Given the description of an element on the screen output the (x, y) to click on. 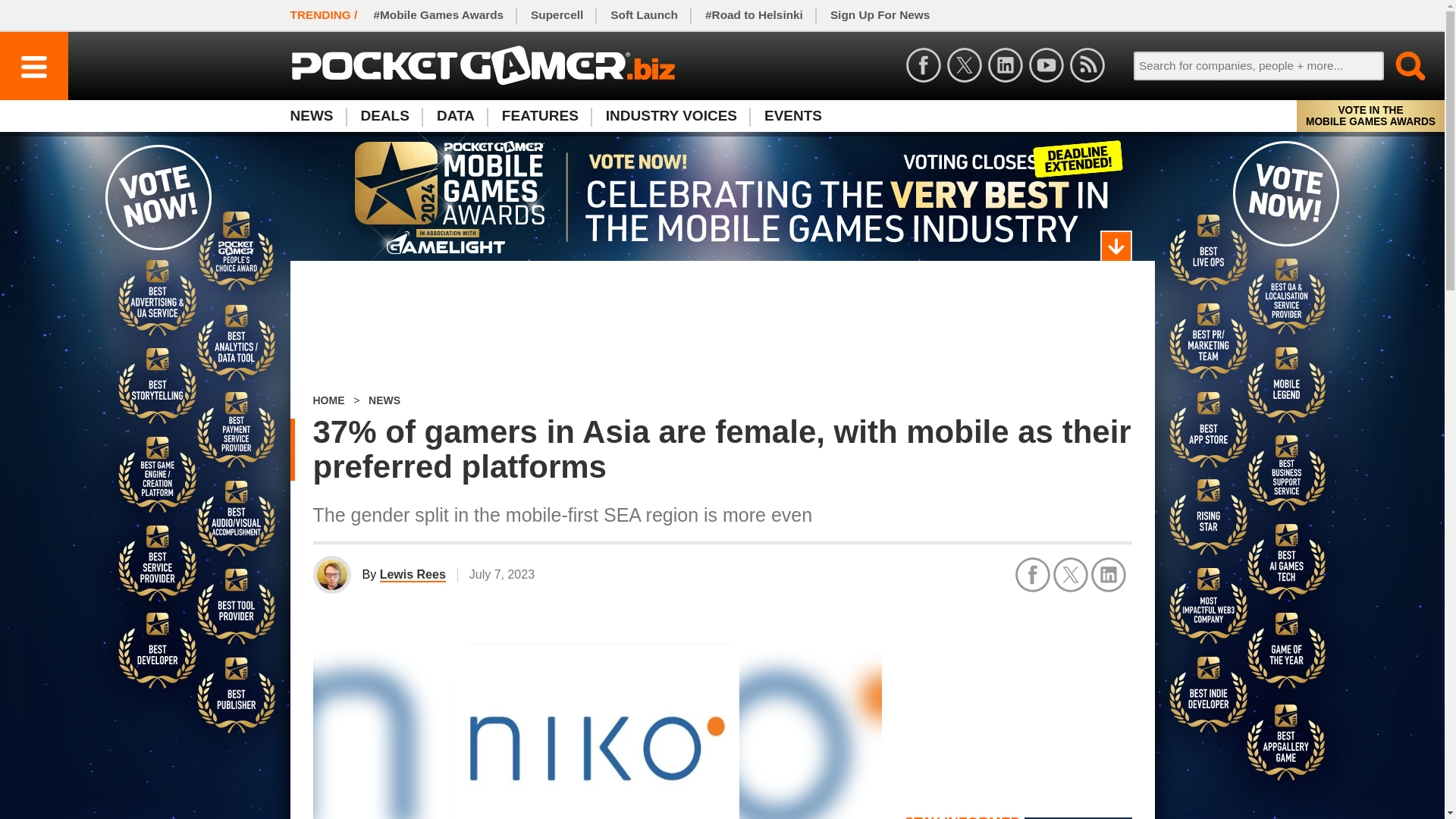
Sign Up For News (879, 15)
DATA (455, 115)
Supercell (556, 15)
FEATURES (539, 115)
Soft Launch (643, 15)
NEWS (384, 400)
Lewis Rees (412, 575)
NEWS (317, 115)
EVENTS (793, 115)
HOME (328, 400)
Go (1402, 65)
Go (1402, 65)
INDUSTRY VOICES (671, 115)
DEALS (385, 115)
